Given the description of an element on the screen output the (x, y) to click on. 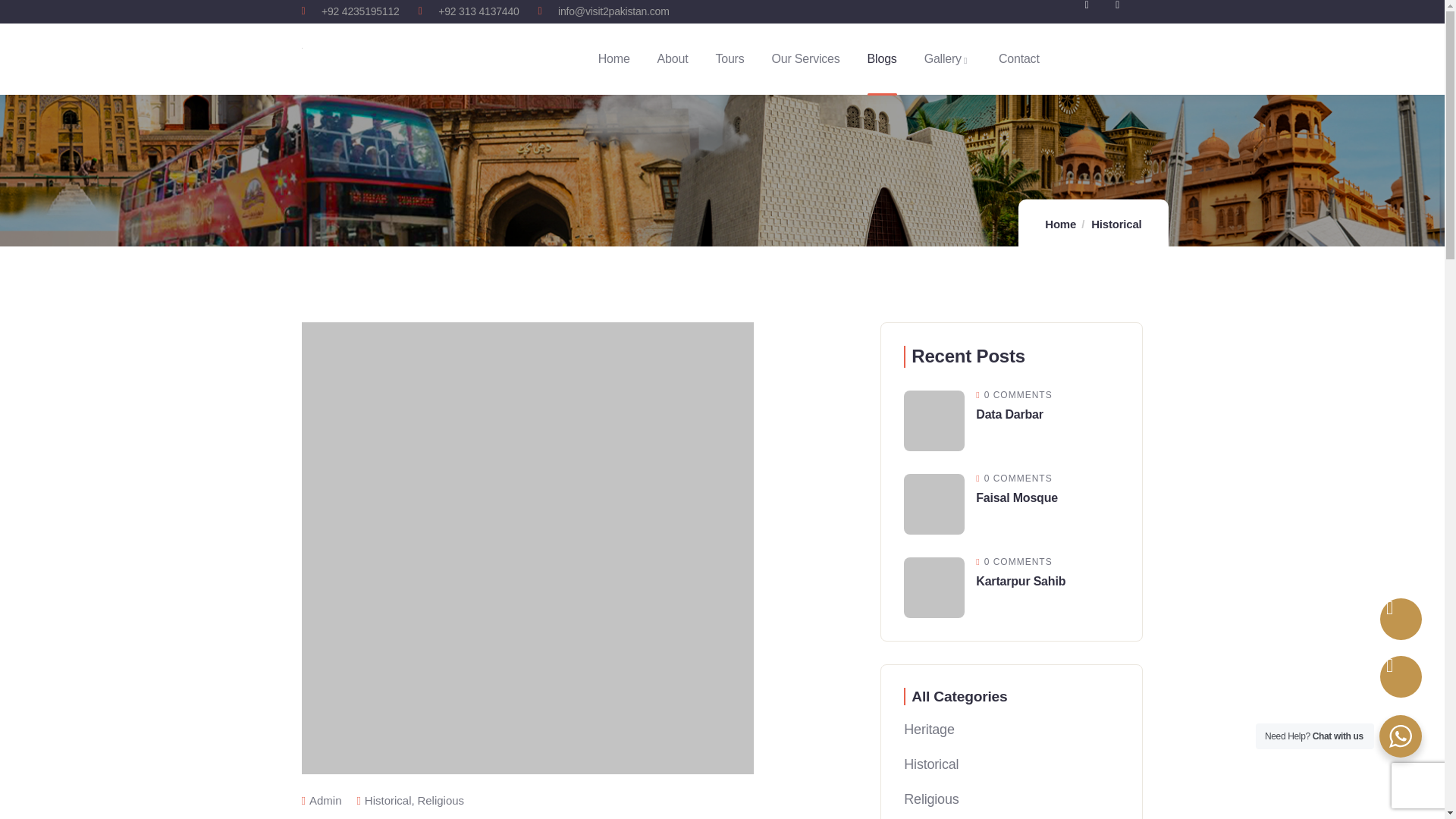
Historical (1115, 223)
Home (1060, 223)
Religious (440, 799)
Our Services (805, 59)
Admin (321, 799)
Historical (388, 799)
